Given the description of an element on the screen output the (x, y) to click on. 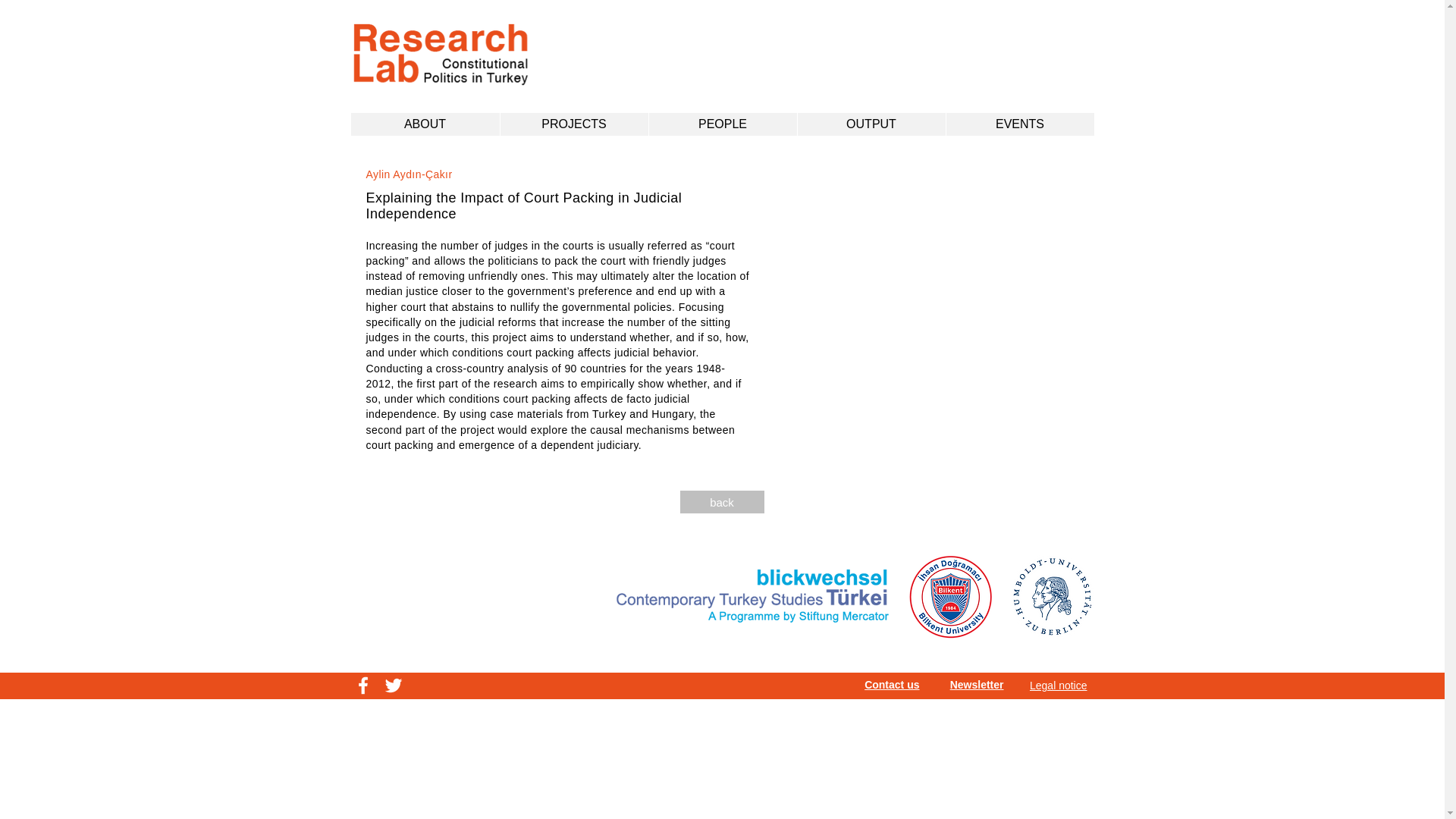
back (720, 501)
ABOUT (424, 124)
Legal notice (1058, 685)
EVENTS (1018, 124)
PROJECTS (573, 124)
Newsletter (977, 684)
Contact us (891, 684)
